Given the description of an element on the screen output the (x, y) to click on. 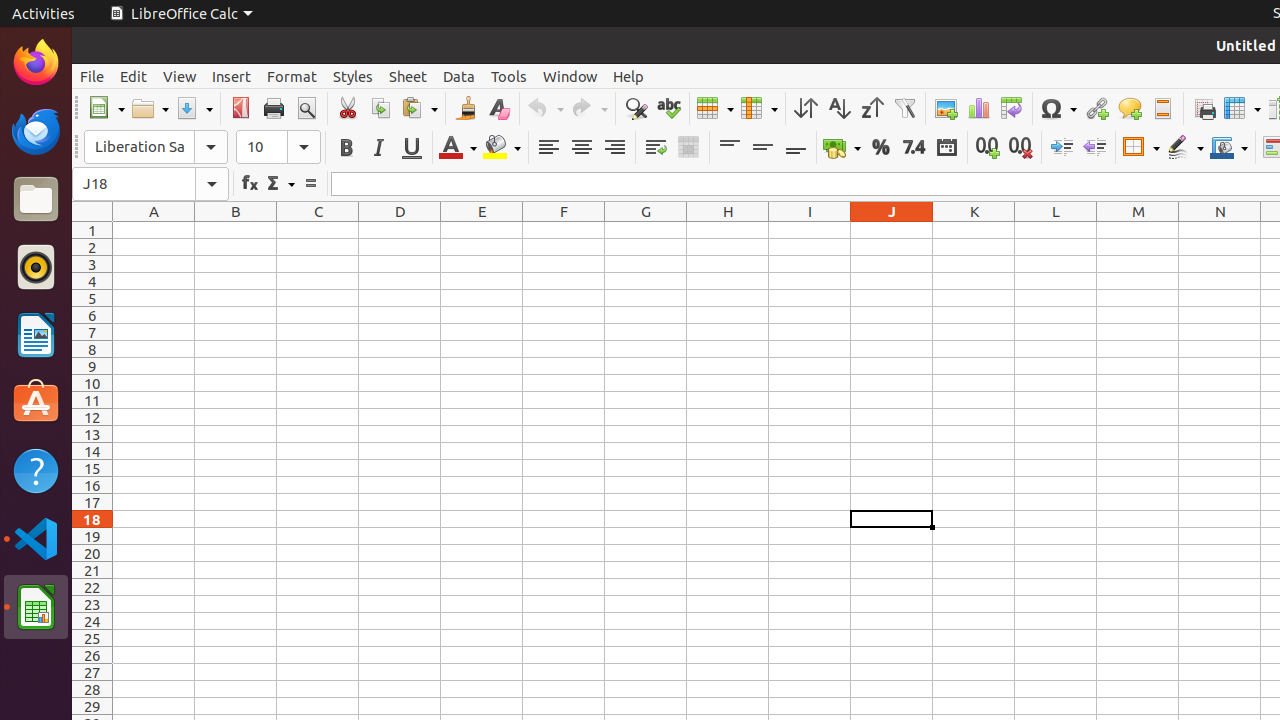
Font Size Element type: combo-box (278, 147)
Spelling Element type: push-button (668, 108)
I1 Element type: table-cell (810, 230)
Add Decimal Place Element type: push-button (987, 147)
Pivot Table Element type: push-button (1011, 108)
